Given the description of an element on the screen output the (x, y) to click on. 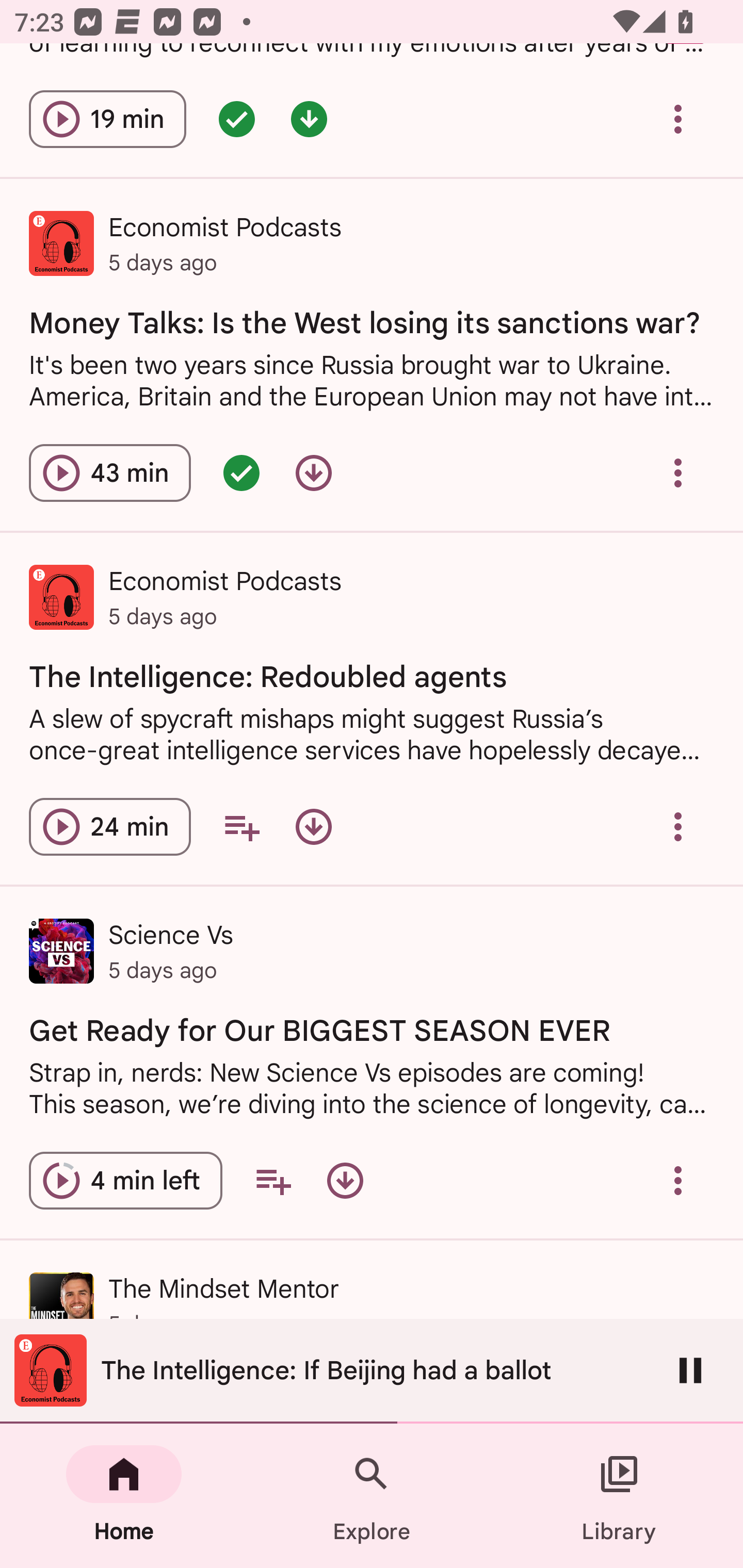
Episode queued - double tap for options (236, 119)
Episode downloaded - double tap for options (308, 119)
Overflow menu (677, 119)
Episode queued - double tap for options (241, 472)
Download episode (313, 472)
Overflow menu (677, 472)
Add to your queue (241, 827)
Download episode (313, 827)
Overflow menu (677, 827)
Add to your queue (273, 1180)
Download episode (345, 1180)
Overflow menu (677, 1180)
Pause (690, 1370)
Explore (371, 1495)
Library (619, 1495)
